Given the description of an element on the screen output the (x, y) to click on. 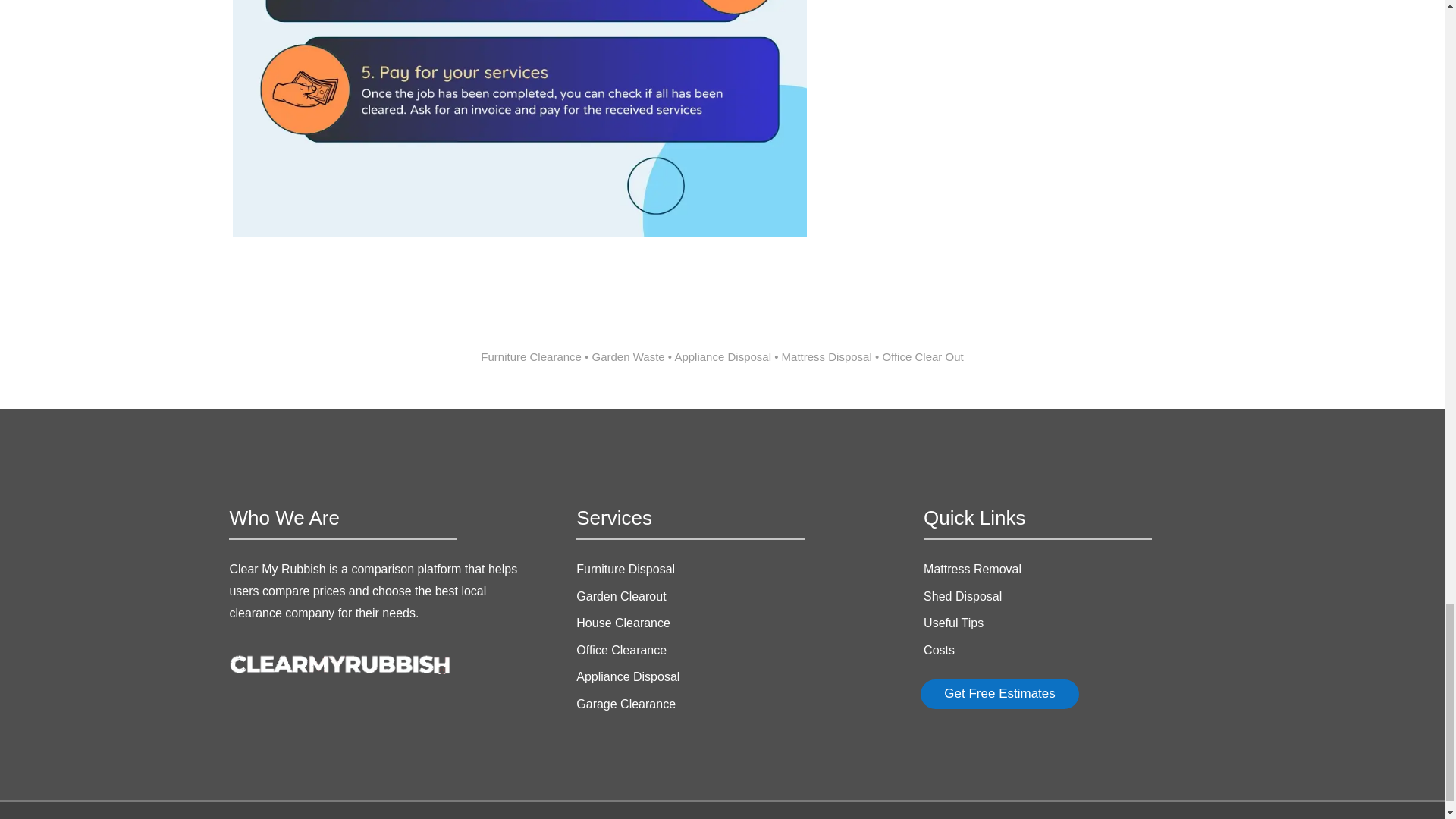
Office Clear Out (922, 356)
Furniture Clearance (530, 356)
Appliance Disposal (627, 676)
Appliance Disposal (722, 356)
Clear My Rubbish (278, 568)
Office Clearance (621, 649)
House Clearance (622, 622)
Mattress Removal (972, 568)
Garden Clearout (620, 595)
Mattress Disposal (826, 356)
Garage Clearance (625, 703)
Appliance Disposal (722, 356)
Furniture Clearance (530, 356)
Appliance Disposal (627, 676)
